Given the description of an element on the screen output the (x, y) to click on. 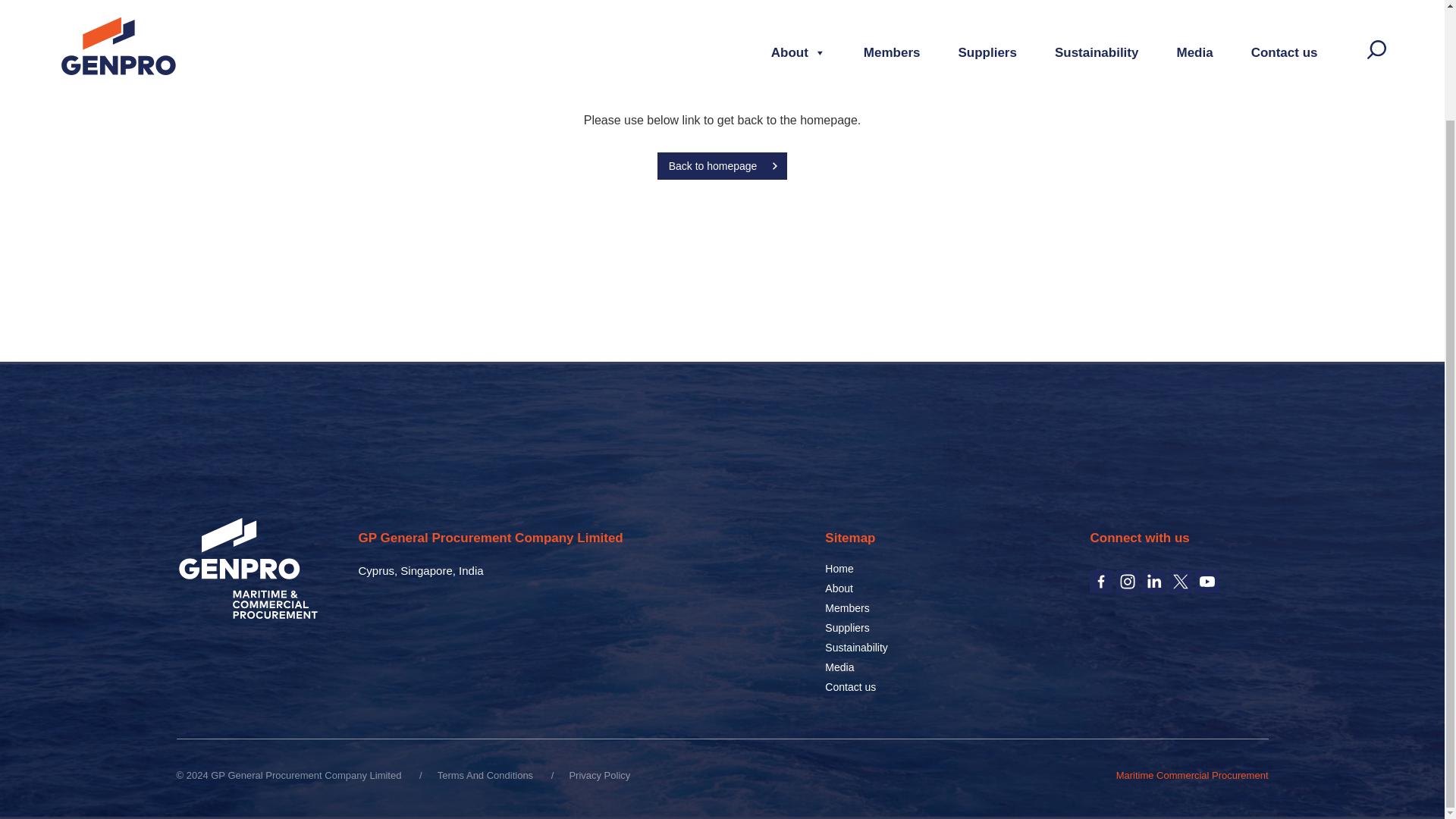
Members (847, 607)
Home (839, 568)
Back to homepage (722, 165)
About (839, 588)
Media (839, 666)
Contact us (850, 686)
Suppliers (847, 627)
Terms And Conditions (485, 775)
Sustainability (856, 647)
Privacy Policy (599, 775)
